Given the description of an element on the screen output the (x, y) to click on. 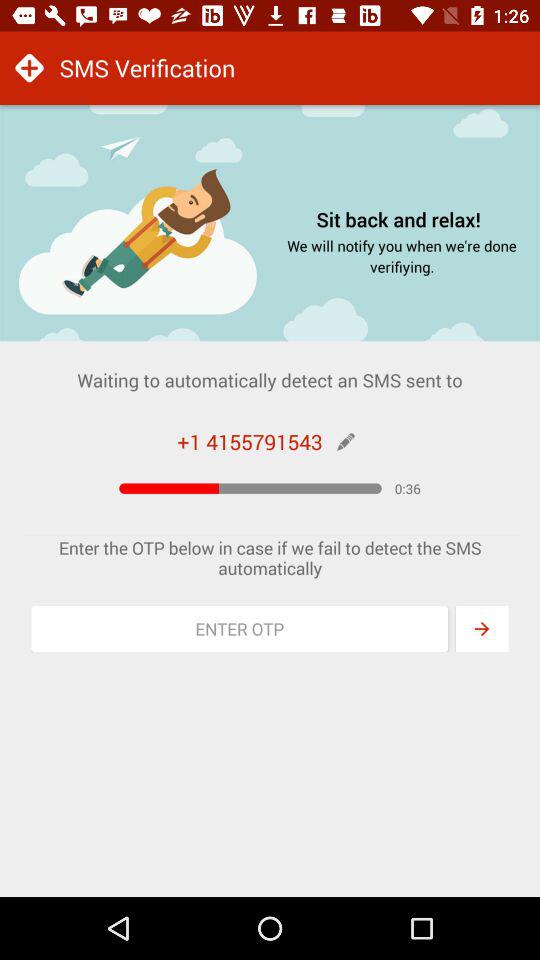
edit number (345, 441)
